Given the description of an element on the screen output the (x, y) to click on. 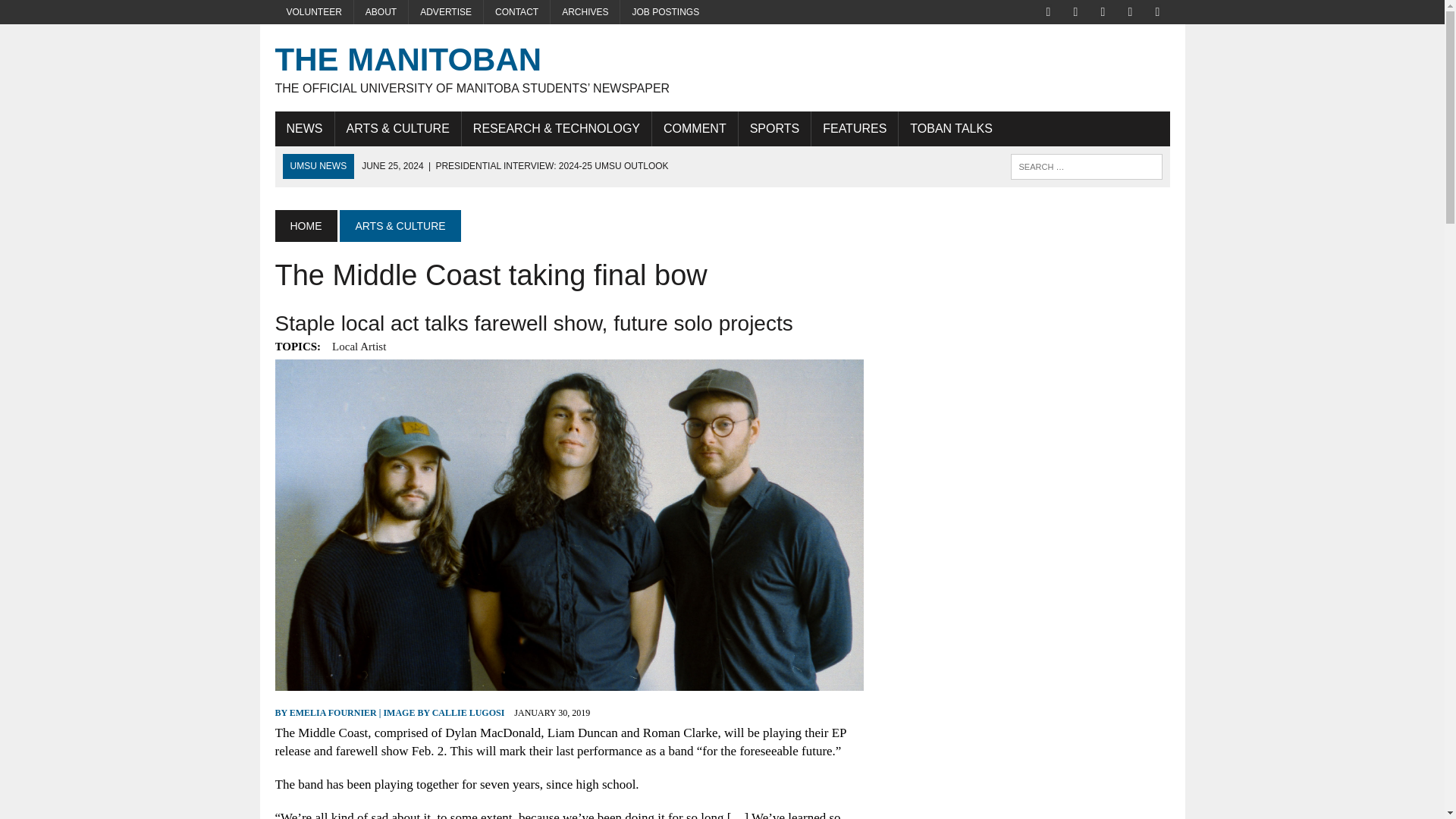
TOBAN TALKS (950, 128)
CONTACT (516, 12)
ABOUT (380, 12)
HOME (305, 225)
COMMENT (695, 128)
SPORTS (774, 128)
Search (75, 14)
VOLUNTEER (313, 12)
Presidential interview: 2024-25 UMSU outlook (514, 165)
ARCHIVES (585, 12)
